Given the description of an element on the screen output the (x, y) to click on. 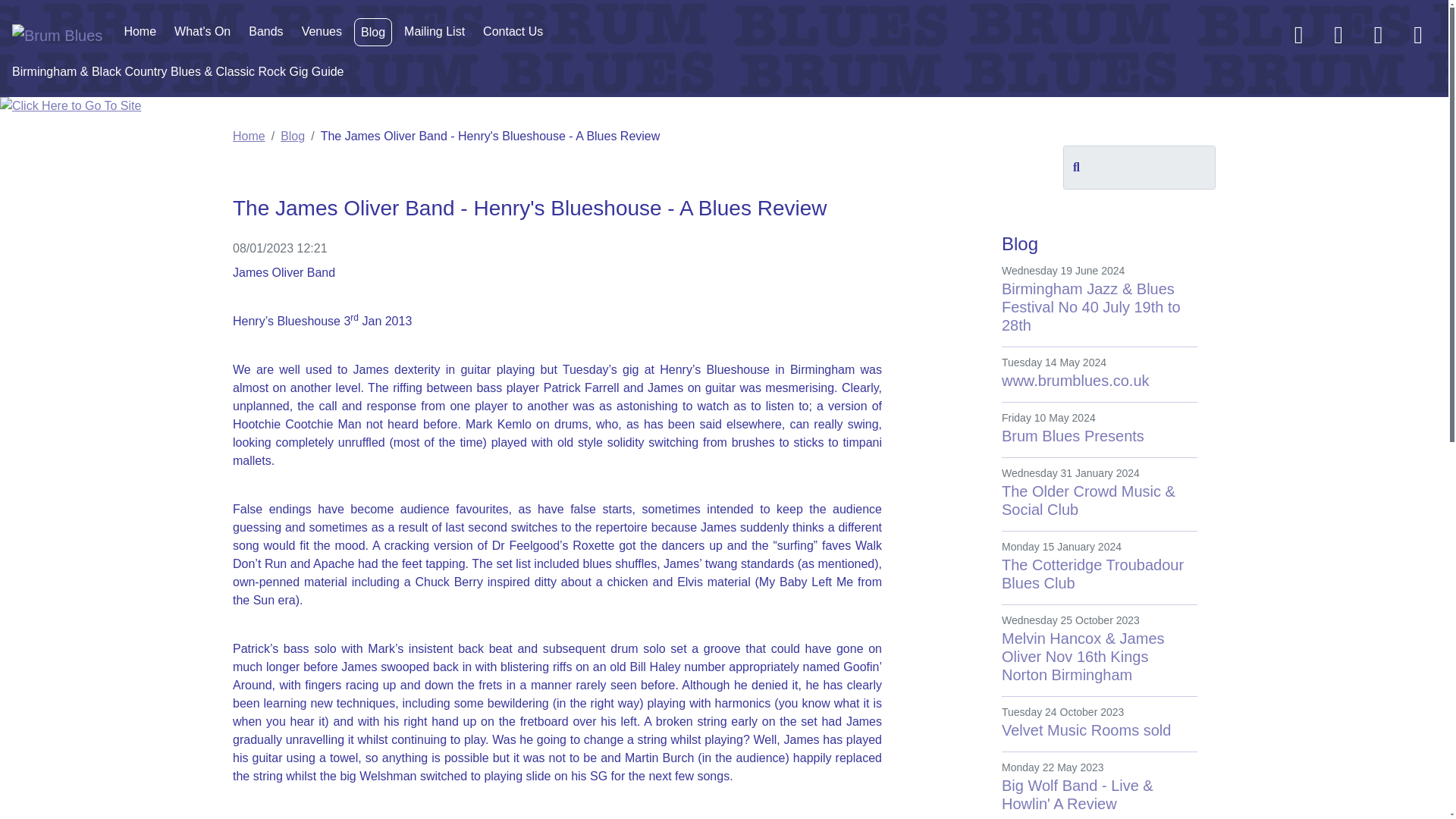
What's On (201, 31)
Facebook (1299, 38)
Bands (265, 31)
Blog (1098, 722)
Twitter (372, 31)
Mailing List (1417, 38)
Youtube (433, 31)
Home (1338, 38)
